Given the description of an element on the screen output the (x, y) to click on. 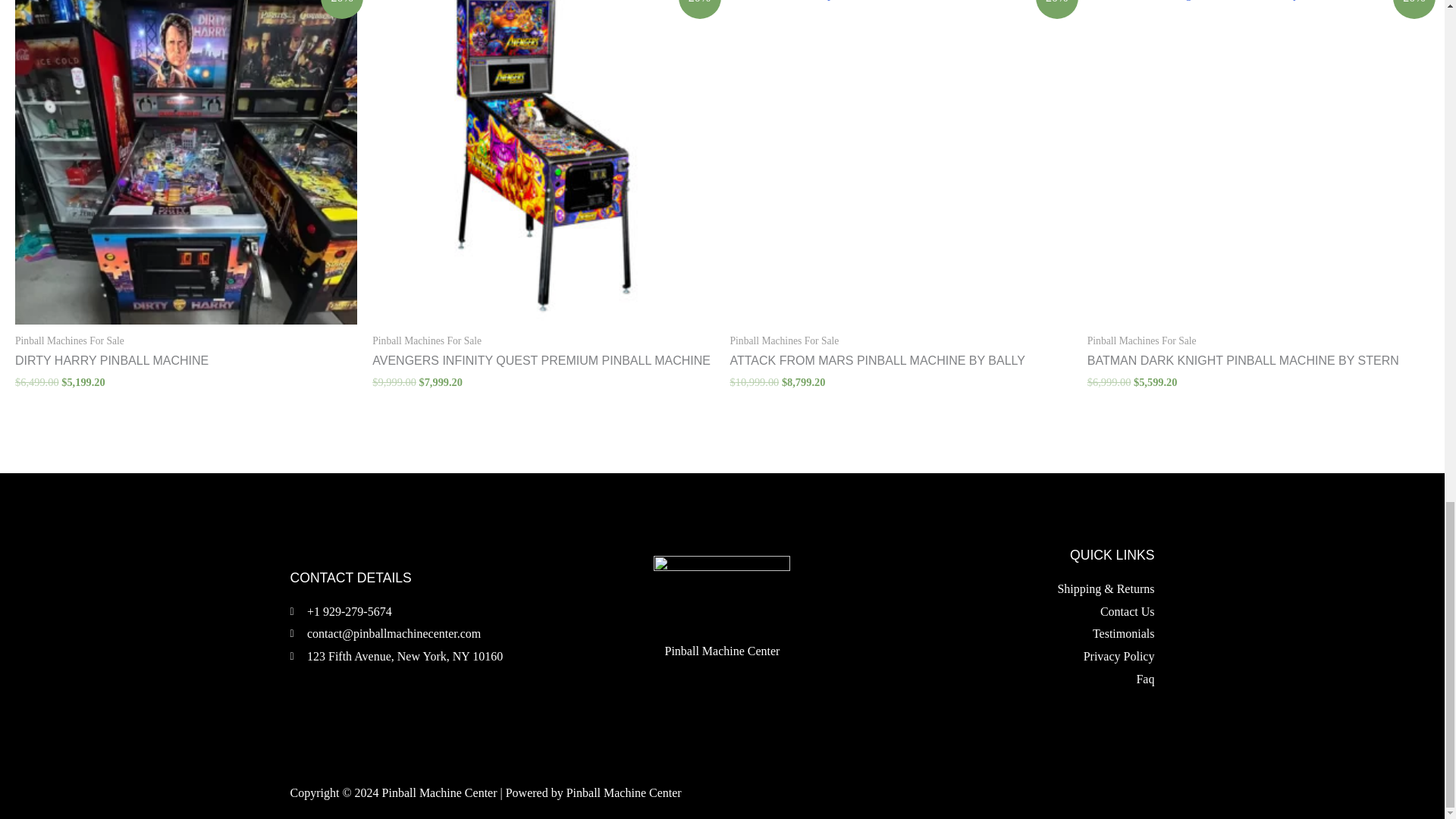
DIRTY HARRY PINBALL MACHINE (185, 360)
BATMAN DARK KNIGHT PINBALL MACHINE BY STERN (1258, 360)
Testimonials (1010, 633)
AVENGERS INFINITY QUEST PREMIUM PINBALL MACHINE (543, 360)
Contact Us (1010, 611)
ATTACK FROM MARS PINBALL MACHINE BY BALLY (900, 360)
Privacy Policy (1010, 656)
Faq (1010, 679)
123 Fifth Avenue, New York, NY 10160 (395, 656)
